Given the description of an element on the screen output the (x, y) to click on. 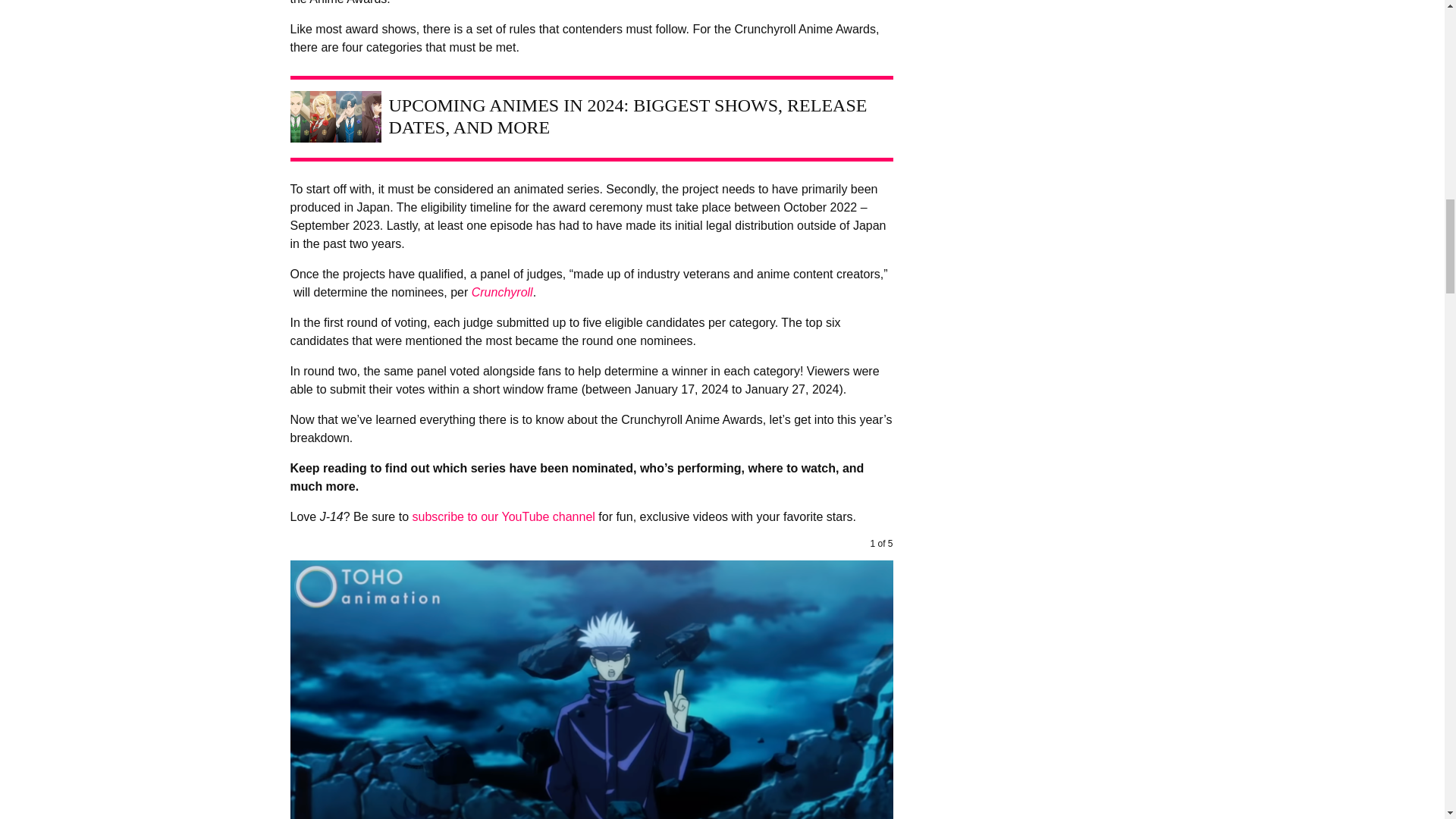
Crunchyroll (501, 291)
subscribe to our YouTube channel (503, 516)
